Given the description of an element on the screen output the (x, y) to click on. 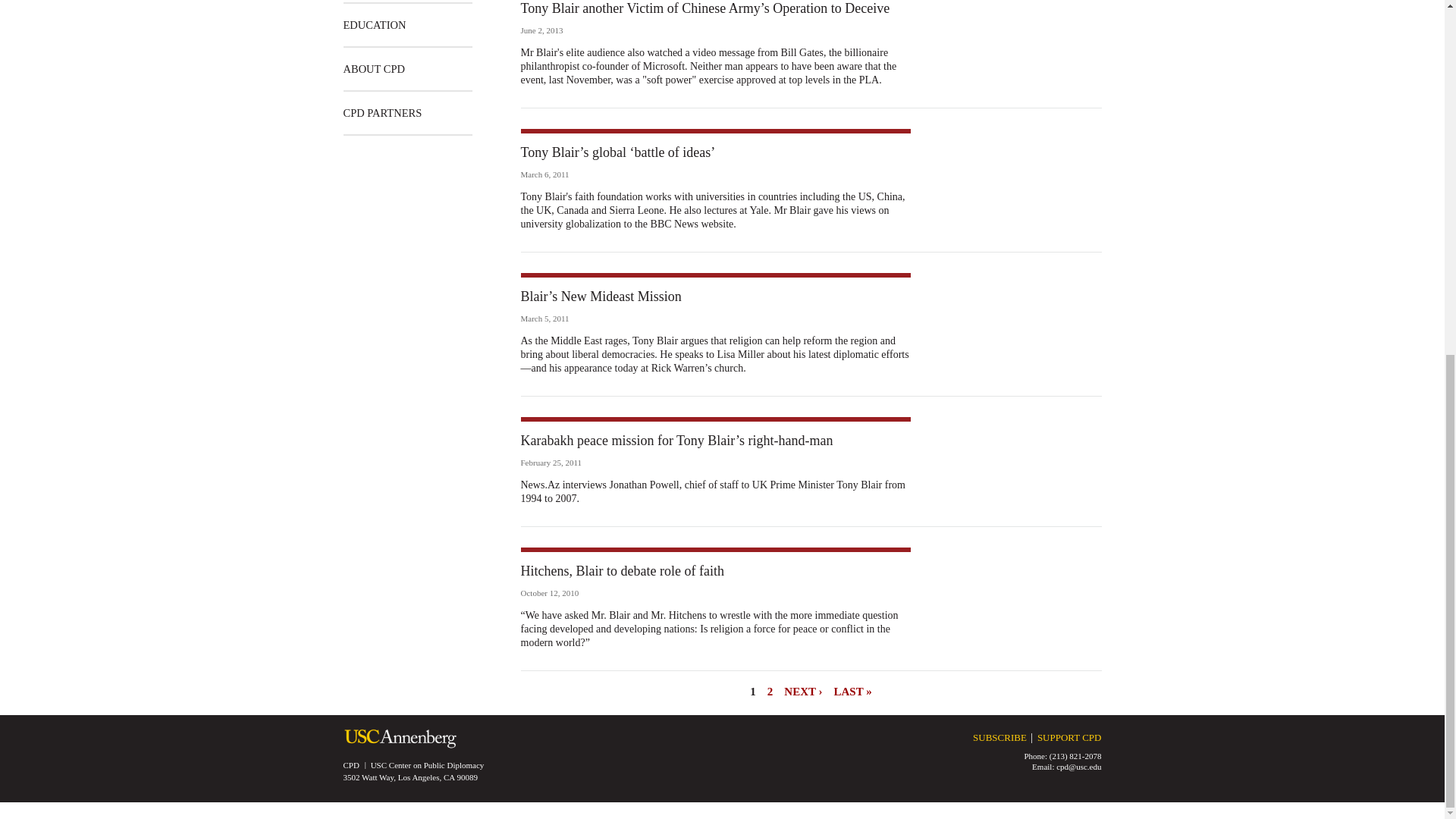
EDUCATION (374, 24)
